Given the description of an element on the screen output the (x, y) to click on. 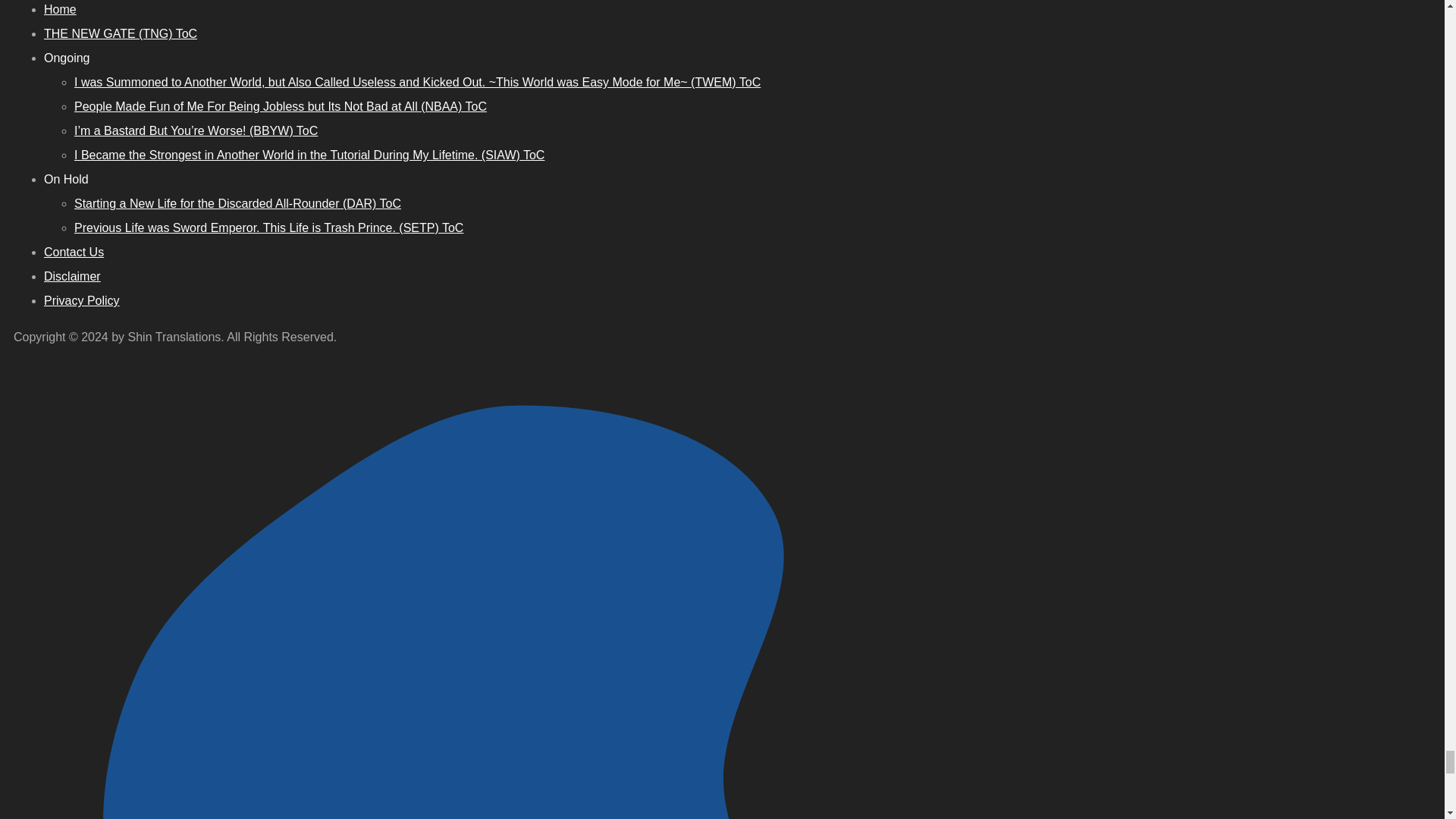
On Hold (65, 178)
Ongoing (66, 57)
Home (60, 9)
